Given the description of an element on the screen output the (x, y) to click on. 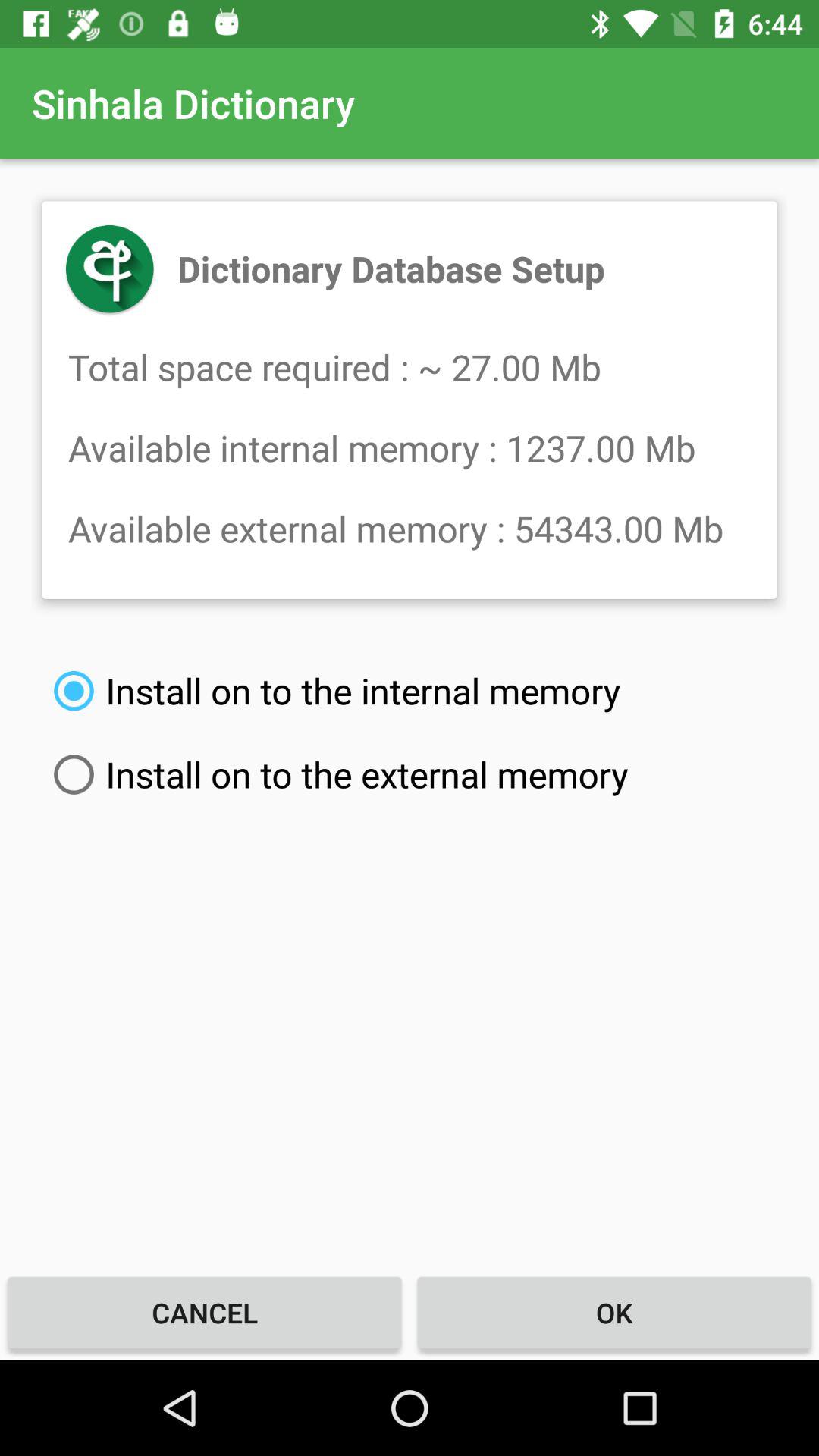
tap the item below the install on to (204, 1312)
